Given the description of an element on the screen output the (x, y) to click on. 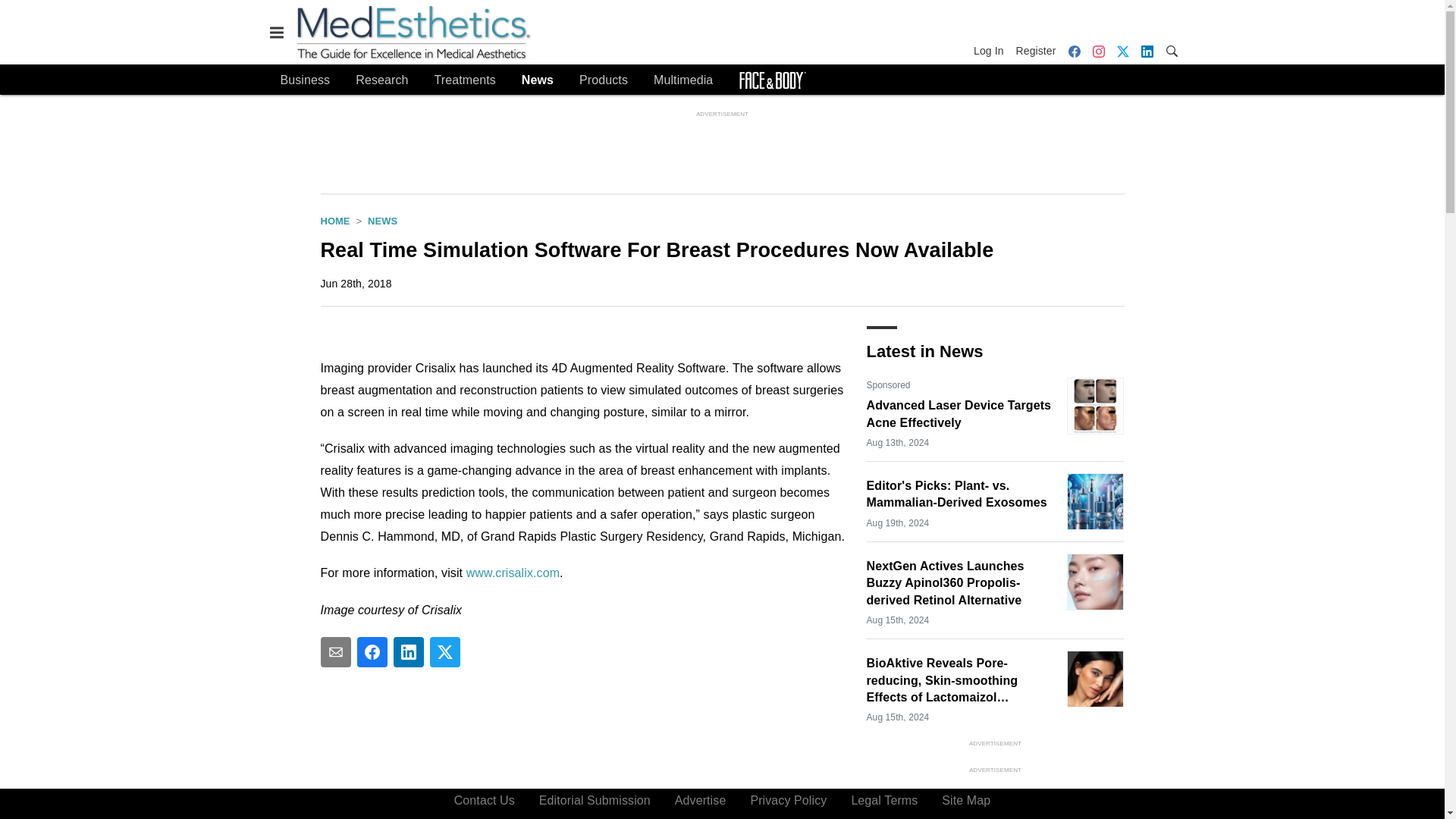
Share To email (335, 652)
Log In (992, 50)
Sponsored (888, 385)
www.crisalix.com (512, 572)
NEWS (382, 220)
Register (1036, 50)
LinkedIn icon (1146, 51)
Twitter X icon (1121, 50)
Share To twitter (444, 652)
HOME (334, 220)
